Given the description of an element on the screen output the (x, y) to click on. 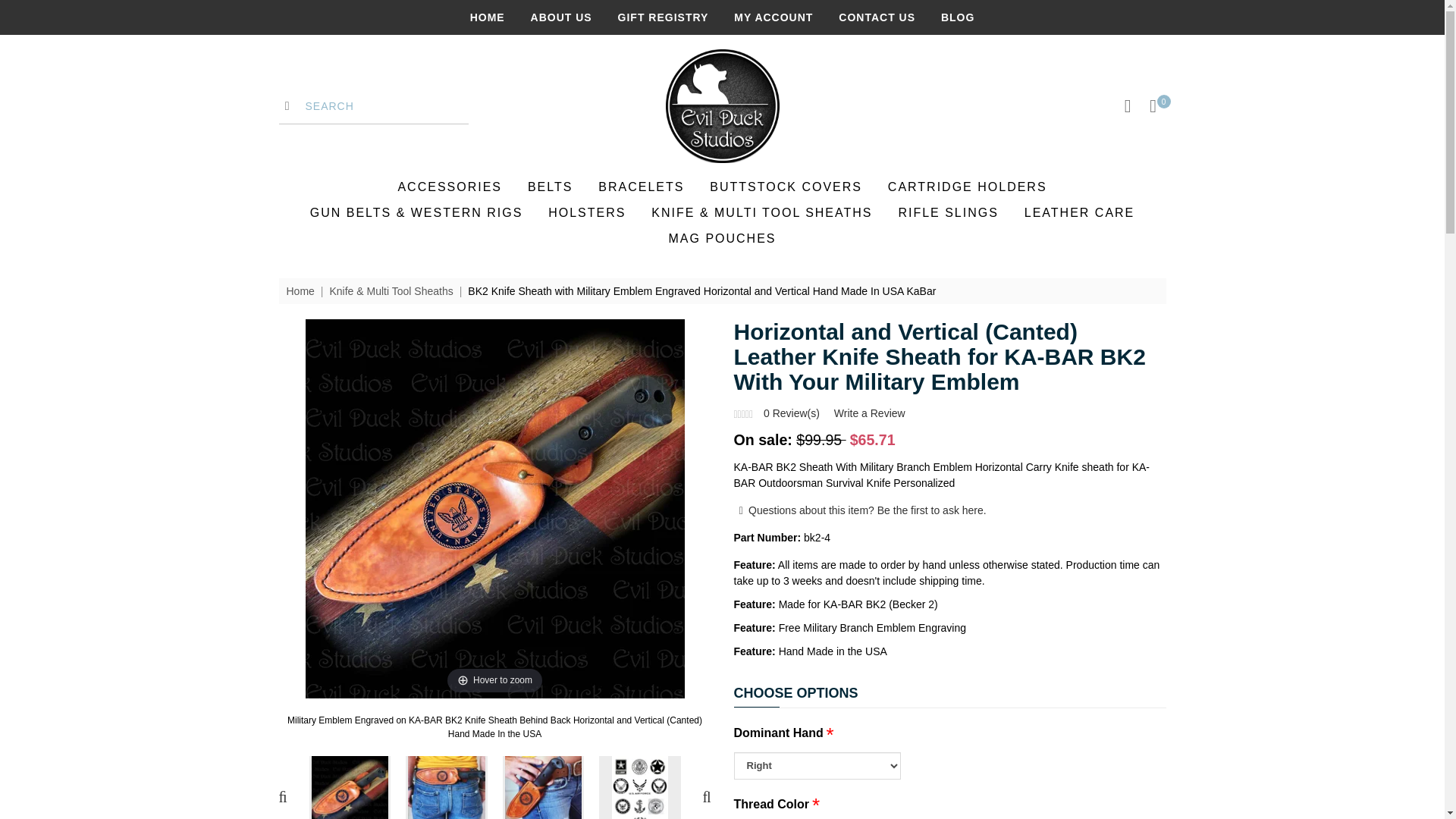
LEATHER CARE (1080, 213)
Thumbnail (542, 787)
CARTRIDGE HOLDERS (967, 186)
HOLSTERS (587, 213)
BRACELETS (641, 186)
ABOUT US (561, 17)
BUTTSTOCK COVERS (785, 186)
BLOG (957, 17)
0 (1153, 106)
Evil Duck Studios Online (721, 105)
CONTACT US (876, 17)
Thumbnail (349, 787)
GIFT REGISTRY (663, 17)
MAG POUCHES (722, 238)
RIFLE SLINGS (947, 213)
